Given the description of an element on the screen output the (x, y) to click on. 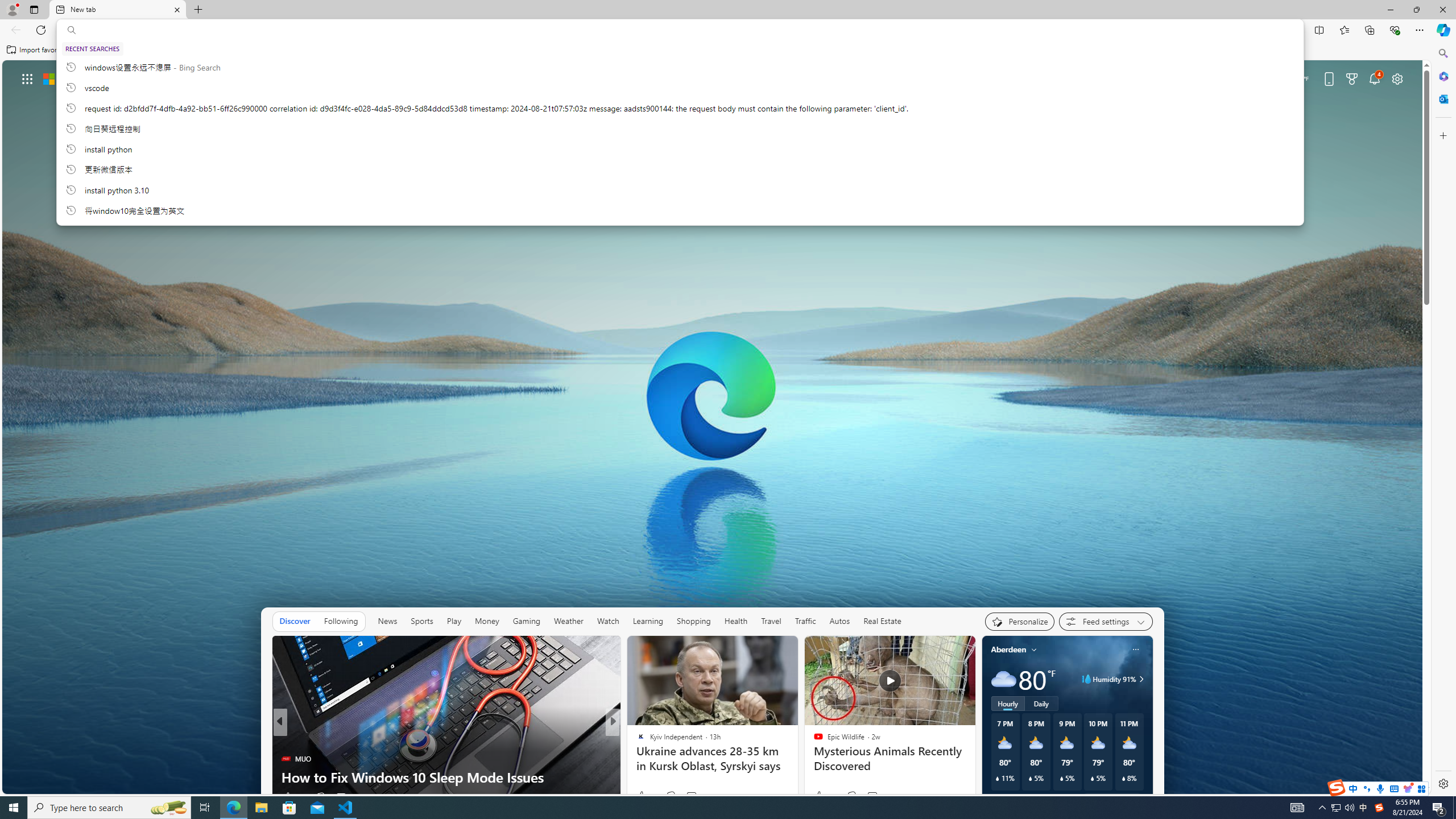
Manage favorites now (316, 49)
Health (735, 621)
Hide this story (239, 649)
Newsweek (635, 758)
View comments 31 Comment (691, 797)
Shopping (693, 621)
Real Estate (881, 621)
View comments 2 Comment (340, 797)
View comments 175 Comment (694, 796)
View comments 141 Comment (691, 797)
View comments 1 Comment (691, 795)
